Given the description of an element on the screen output the (x, y) to click on. 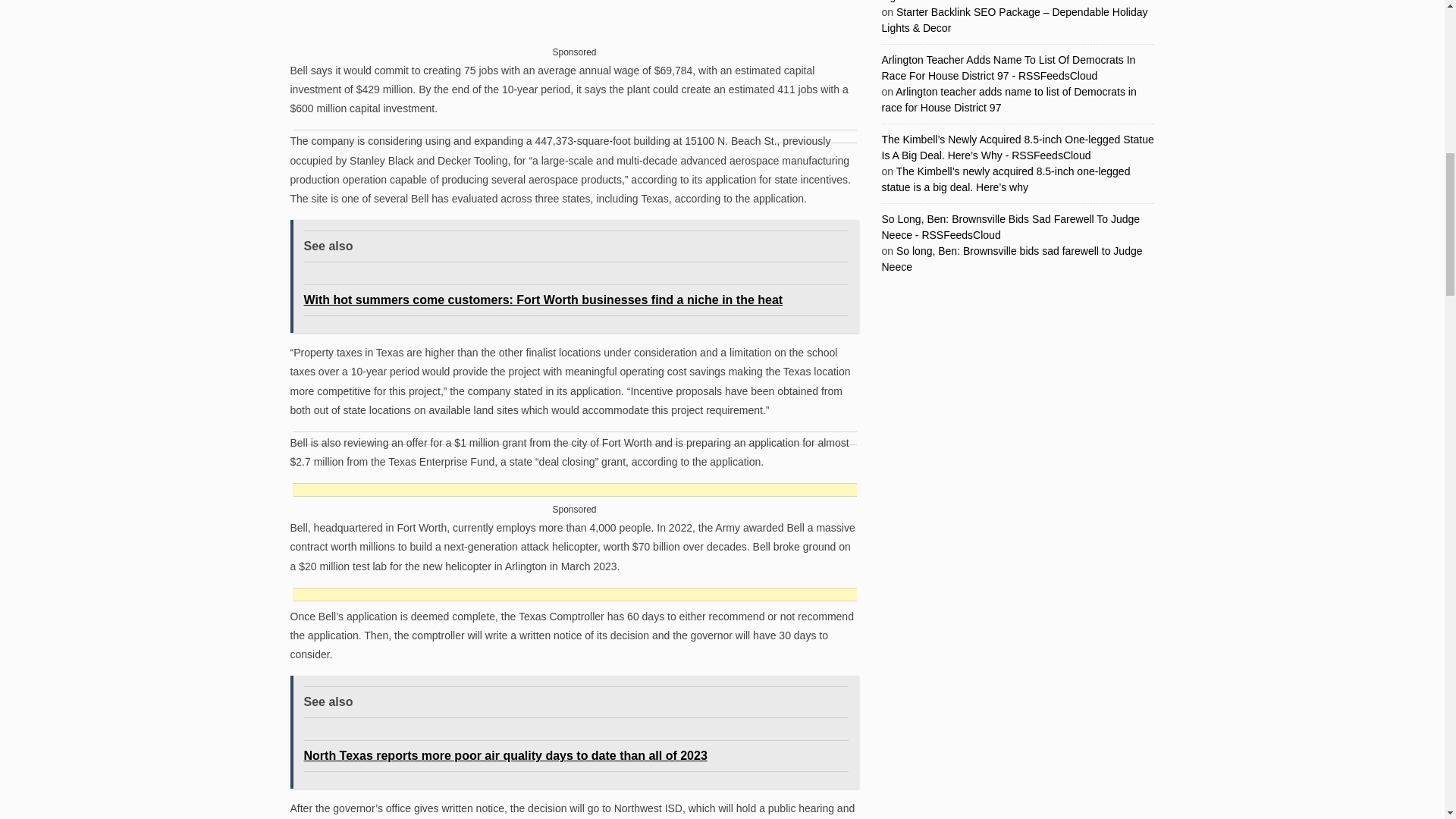
Advertisement (574, 32)
